Given the description of an element on the screen output the (x, y) to click on. 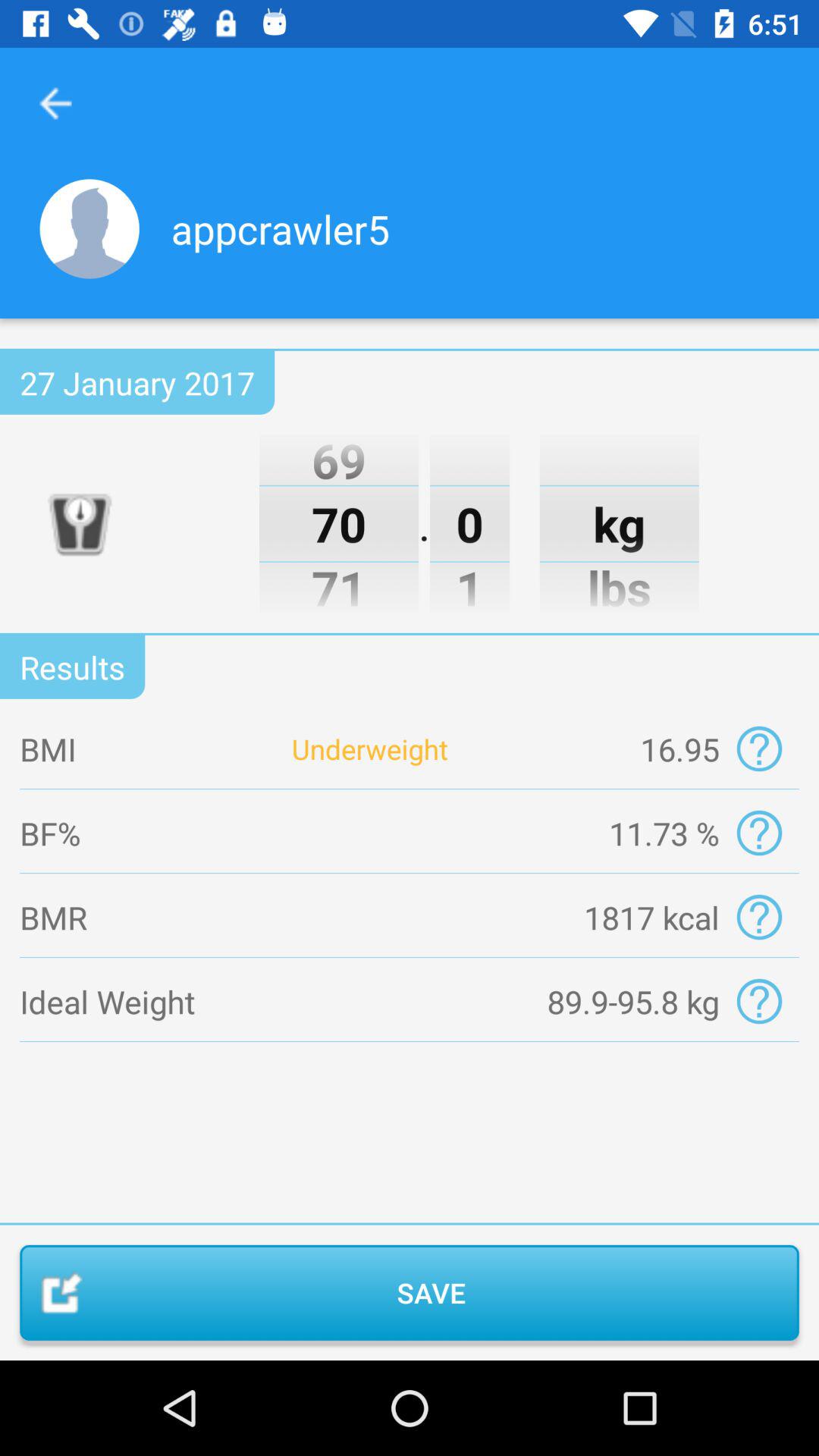
learn more about ideal weight (759, 1001)
